Given the description of an element on the screen output the (x, y) to click on. 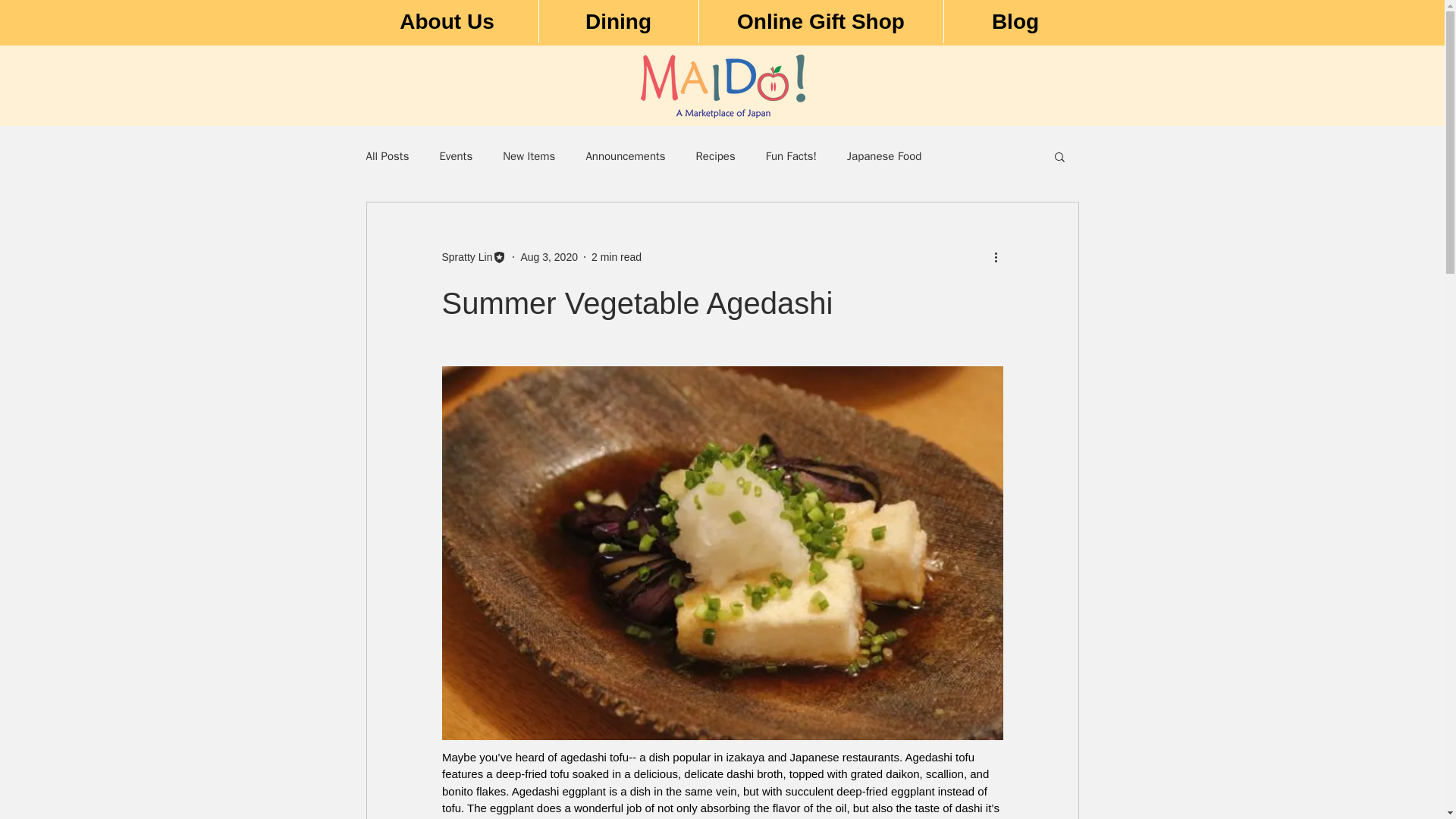
Events (455, 155)
Blog (1015, 21)
Announcements (625, 155)
Fun Facts! (790, 155)
Dining (618, 21)
All Posts (387, 155)
2 min read (616, 256)
New Items (528, 155)
Online Gift Shop (819, 21)
Aug 3, 2020 (548, 256)
Spratty Lin (473, 256)
Japanese Food (884, 155)
Recipes (715, 155)
About Us (447, 21)
Spratty Lin (466, 256)
